Given the description of an element on the screen output the (x, y) to click on. 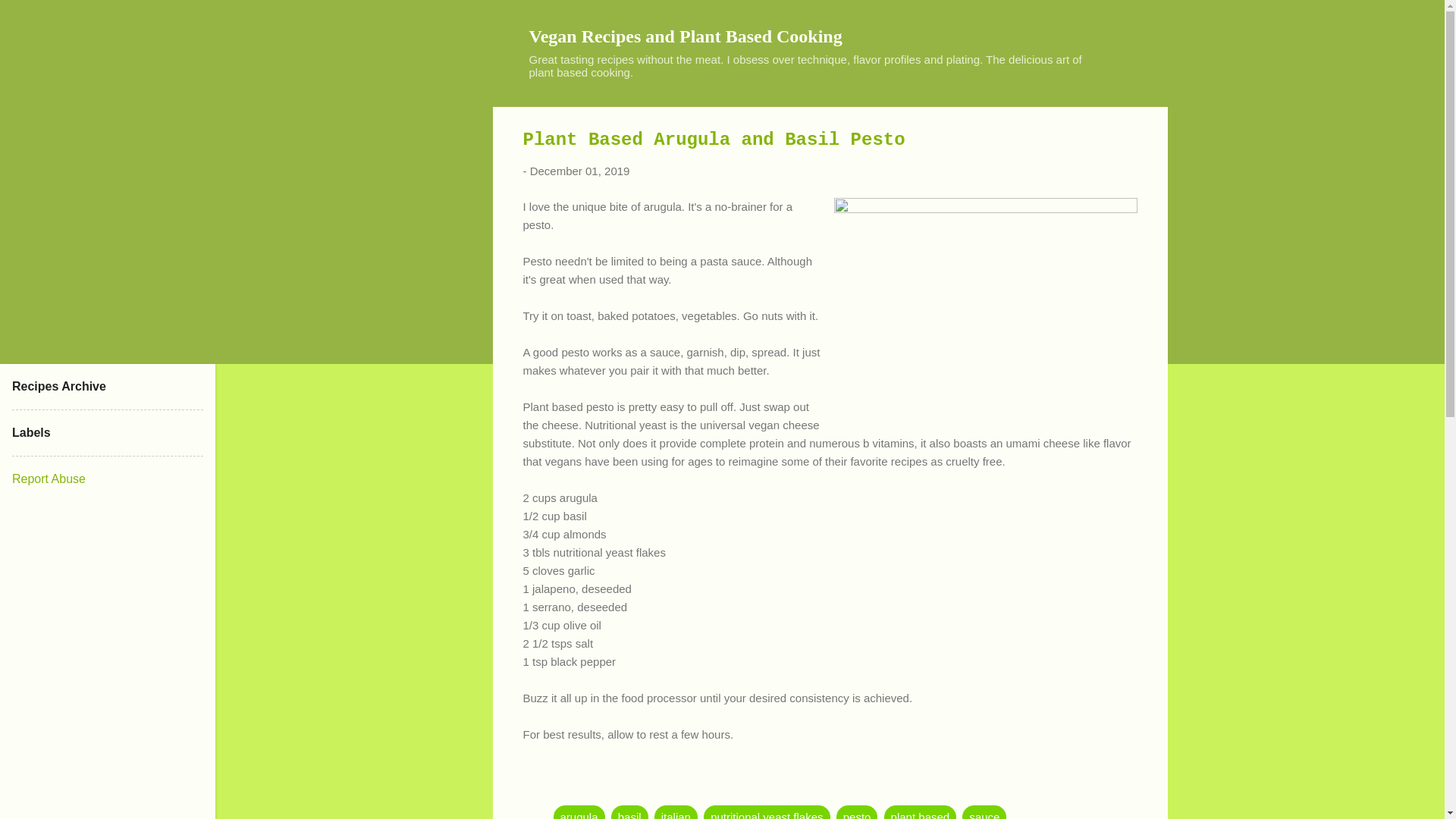
basil (629, 812)
Search (29, 18)
Vegan Recipes and Plant Based Cooking (686, 35)
Email Post (562, 785)
arugula (579, 812)
nutritional yeast flakes (766, 812)
sauce (984, 812)
plant based (919, 812)
permanent link (579, 170)
italian (675, 812)
